Given the description of an element on the screen output the (x, y) to click on. 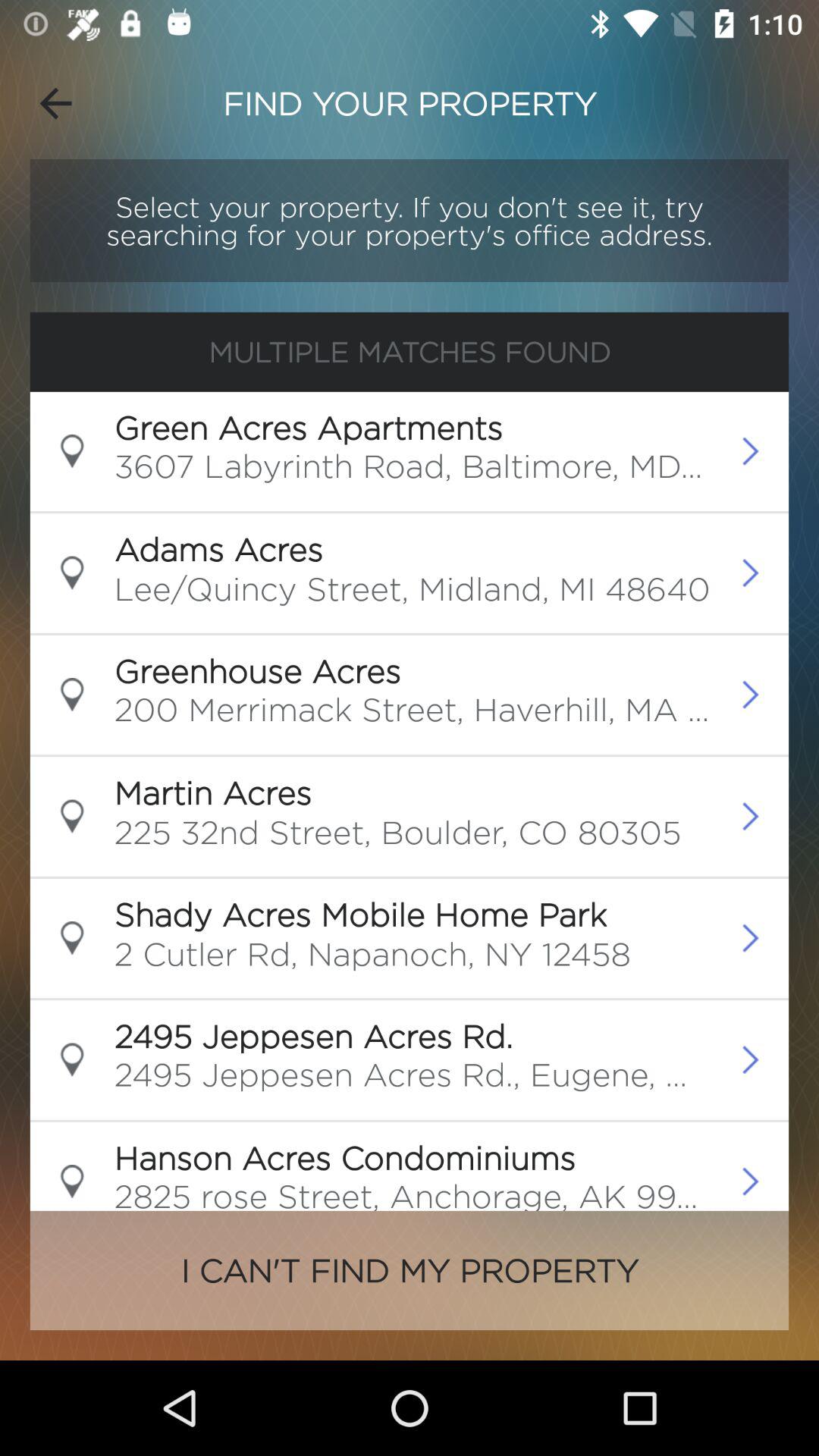
select the multiple matches found button (409, 351)
